Given the description of an element on the screen output the (x, y) to click on. 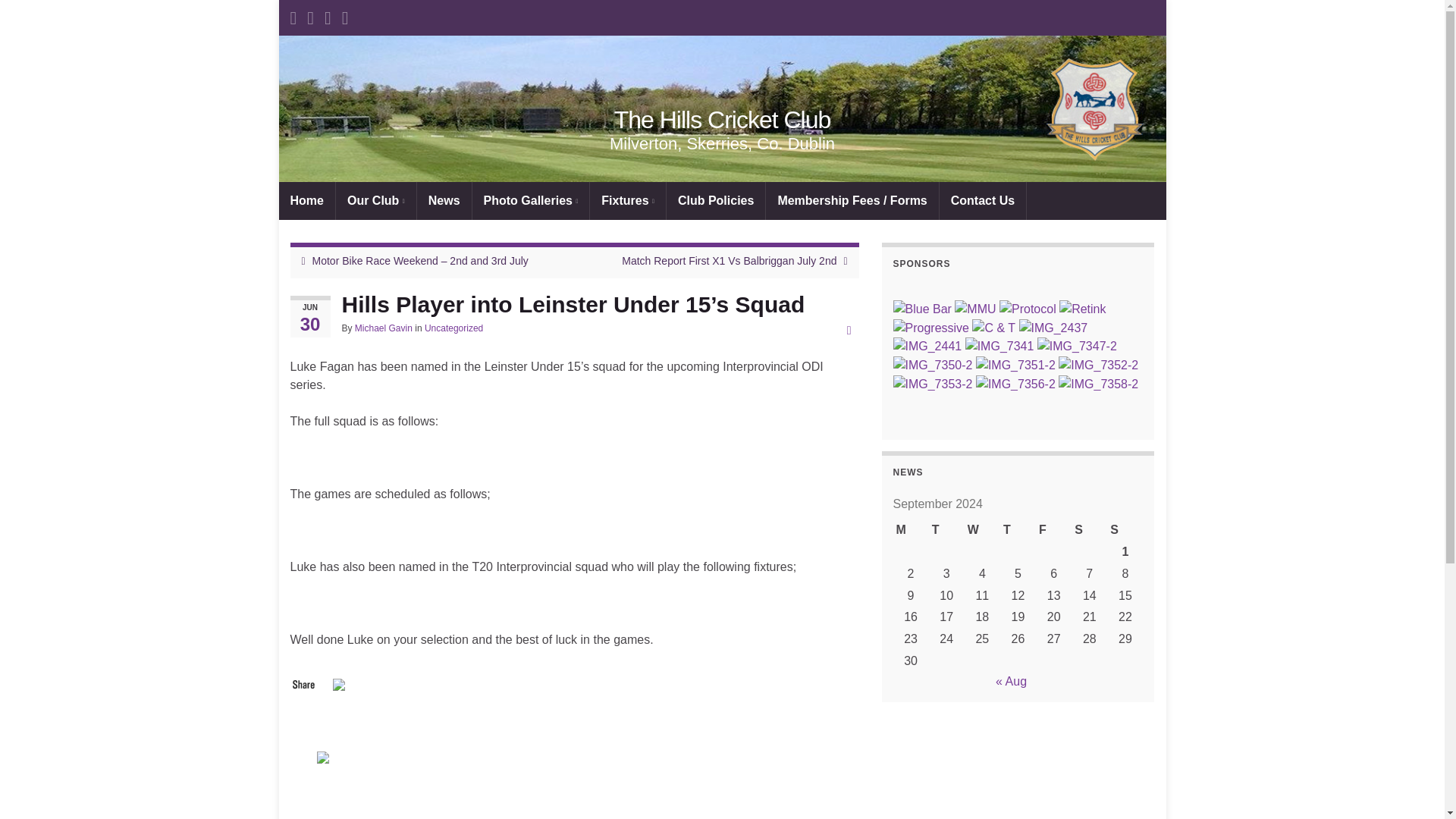
Facebook (339, 682)
News (443, 200)
The Hills Cricket Club (722, 108)
The Hills Cricket Club (722, 119)
Home (306, 200)
Club Policies (715, 200)
Go back to the front page (722, 119)
Fixtures (627, 200)
Uncategorized (454, 327)
